Given the description of an element on the screen output the (x, y) to click on. 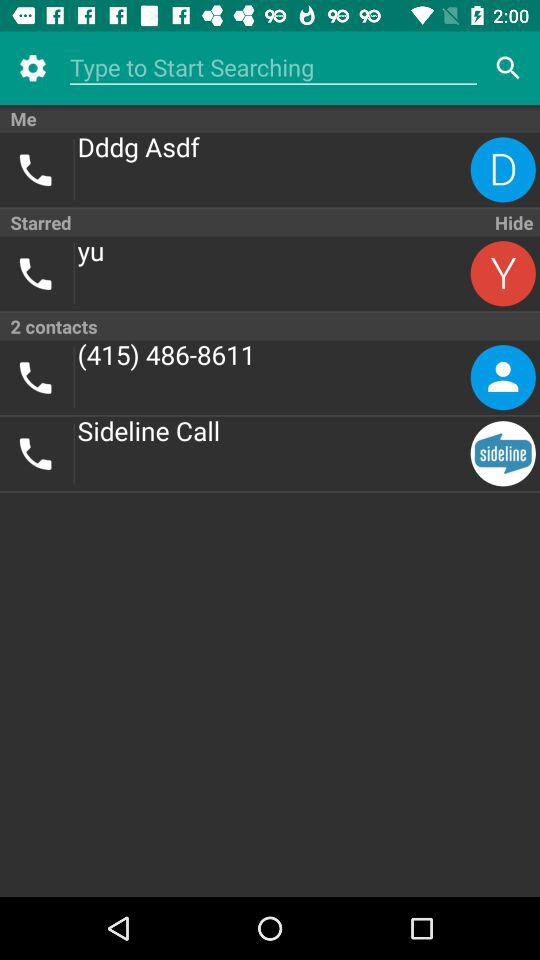
click the icon next to the starred icon (512, 222)
